Given the description of an element on the screen output the (x, y) to click on. 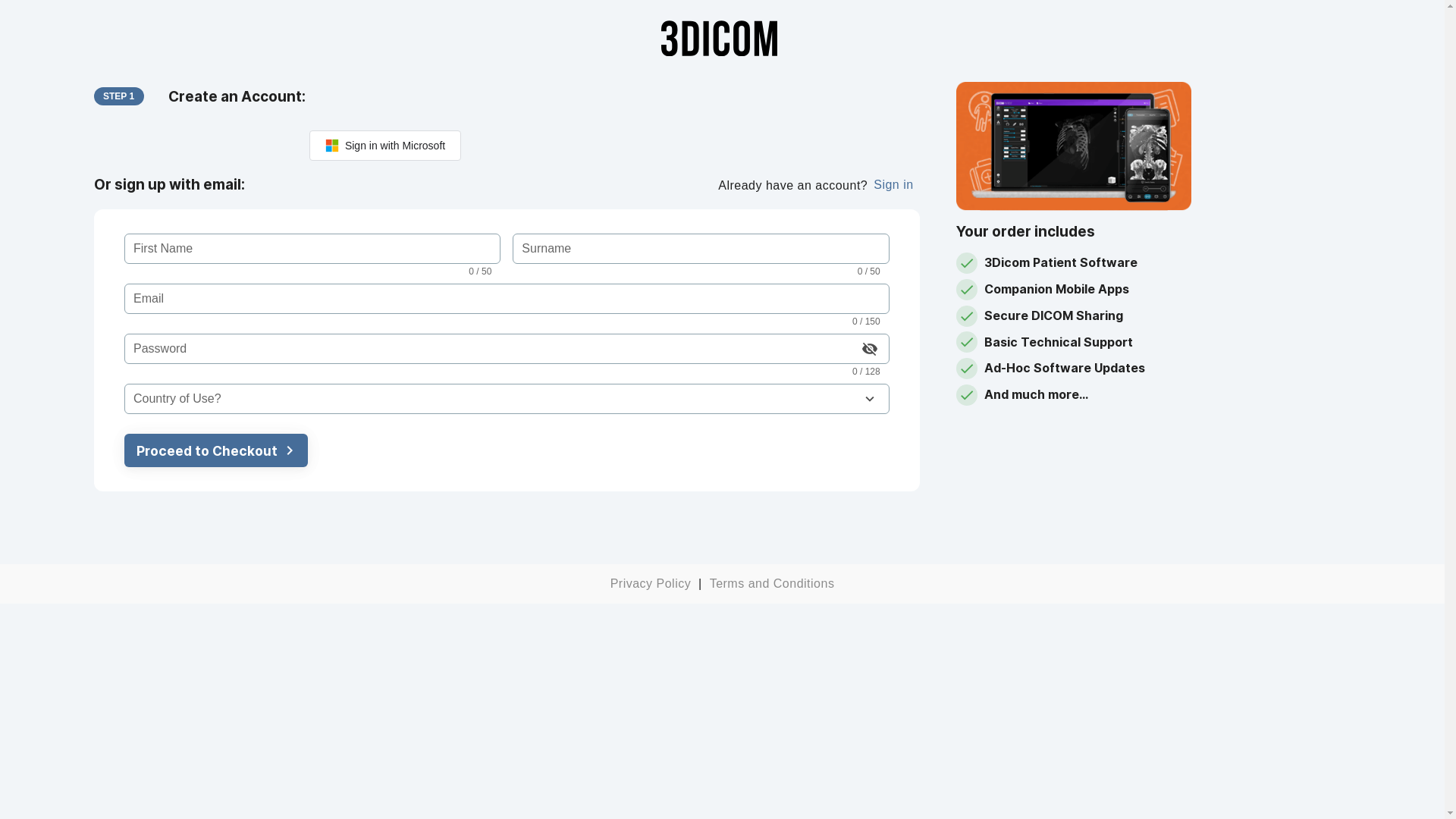
visibility_off Element type: text (869, 348)
expand_more Element type: text (869, 398)
Proceed to Checkout
 chevron_right Element type: text (252, 450)
Sign in Element type: text (893, 184)
Privacy Policy Element type: text (650, 583)
Terms and Conditions Element type: text (771, 583)
  Sign in with Microsoft Element type: text (385, 145)
